Given the description of an element on the screen output the (x, y) to click on. 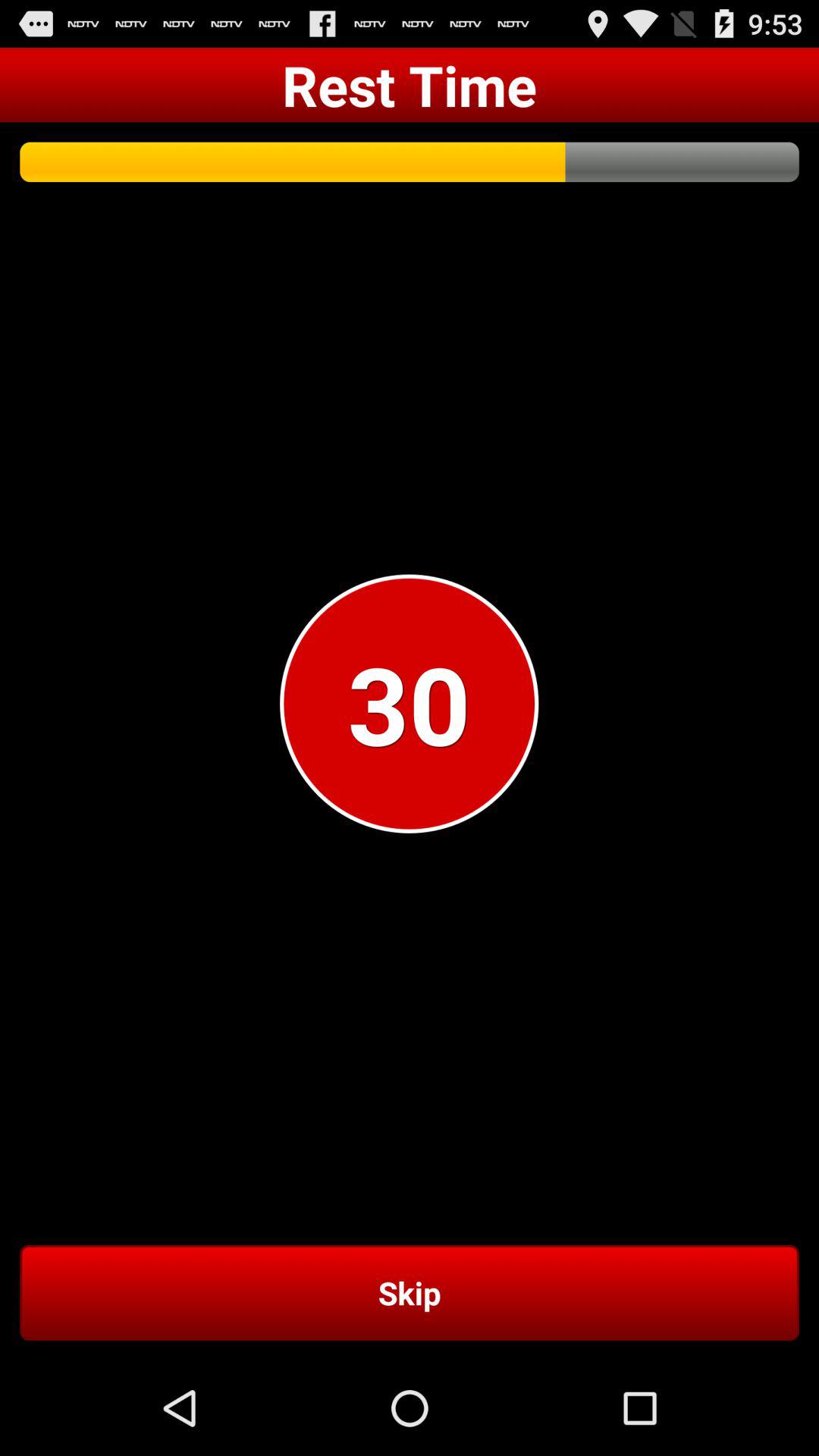
jump to skip item (409, 1292)
